Given the description of an element on the screen output the (x, y) to click on. 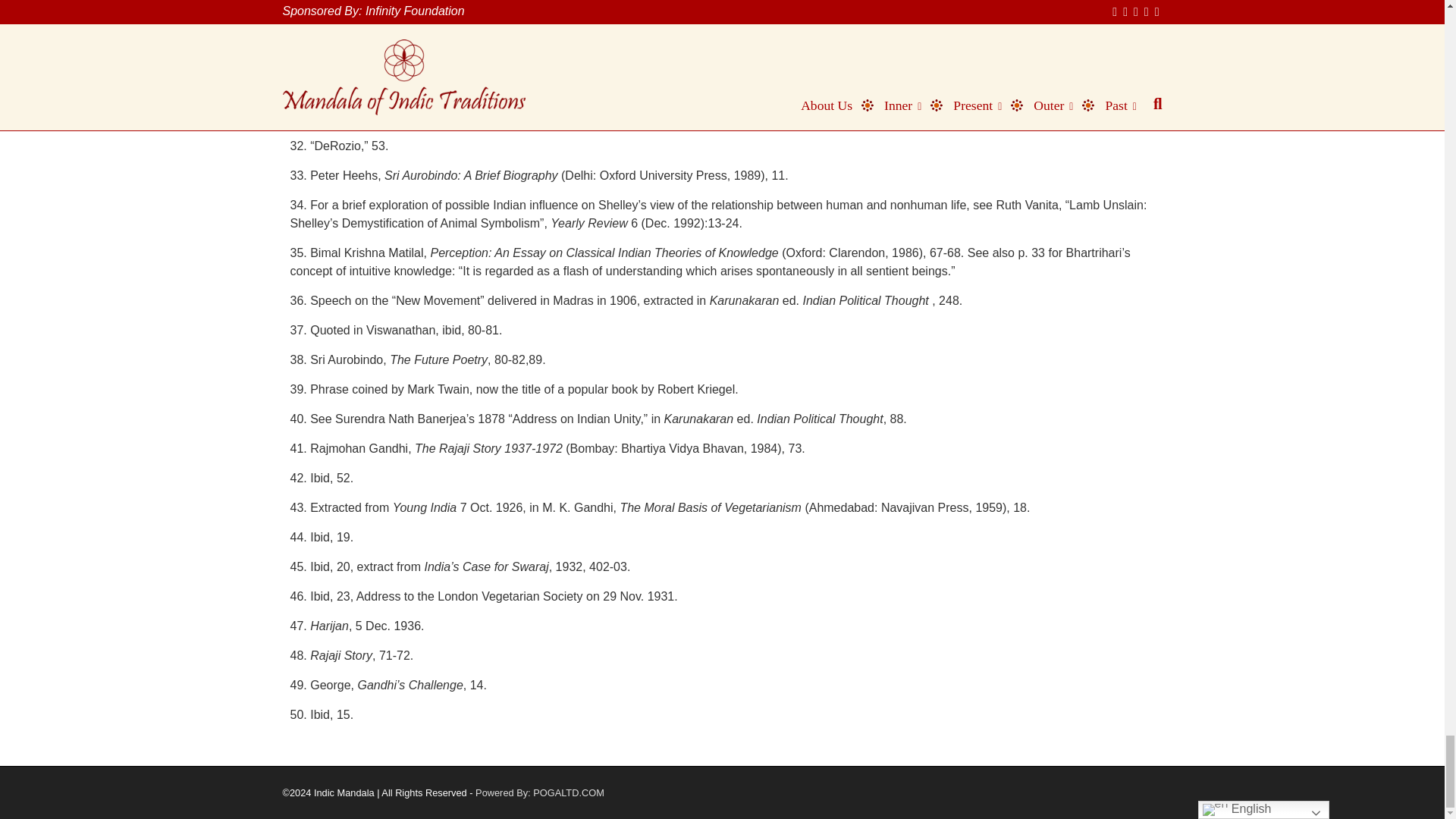
Powered By: POGALTD.COM (540, 792)
